Given the description of an element on the screen output the (x, y) to click on. 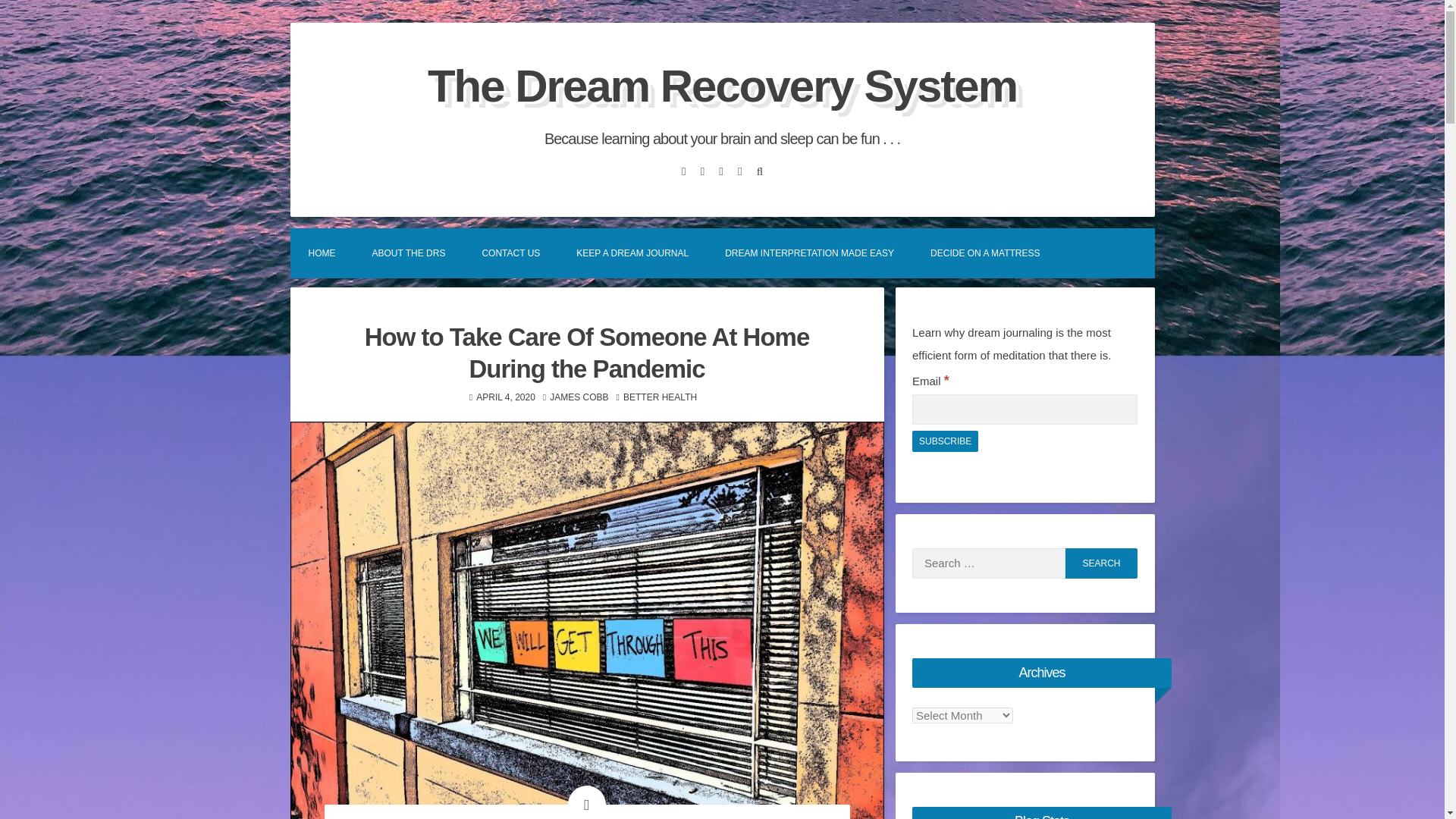
Search (1101, 562)
The Dream Recovery System (722, 85)
Subscribe (945, 441)
Search (1101, 562)
KEEP A DREAM JOURNAL (631, 252)
DECIDE ON A MATTRESS (985, 252)
JAMES COBB (579, 397)
HOME (321, 252)
BETTER HEALTH (660, 397)
DREAM INTERPRETATION MADE EASY (809, 252)
